Given the description of an element on the screen output the (x, y) to click on. 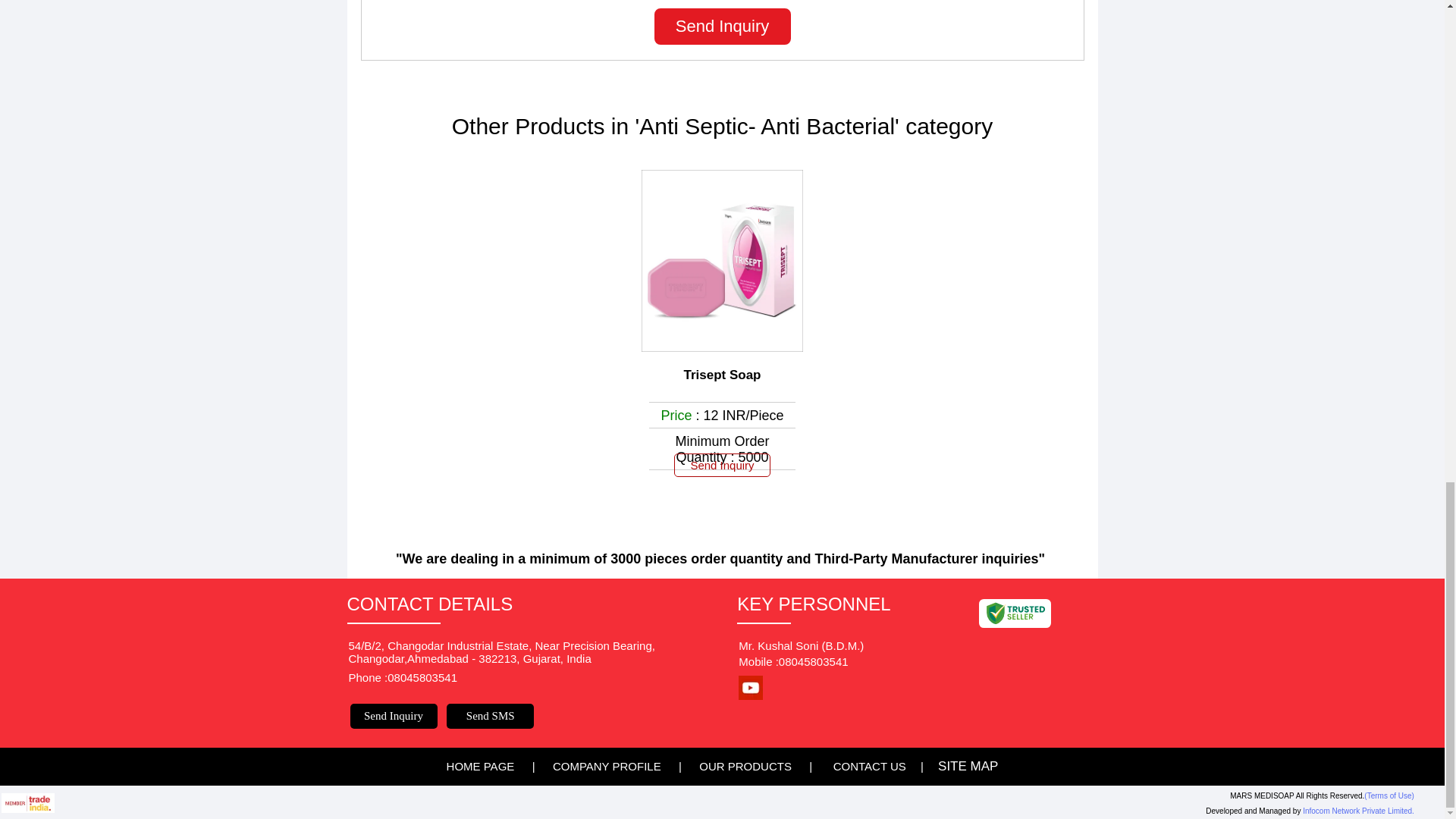
You Tube (750, 695)
Send Inquiry (721, 26)
